Given the description of an element on the screen output the (x, y) to click on. 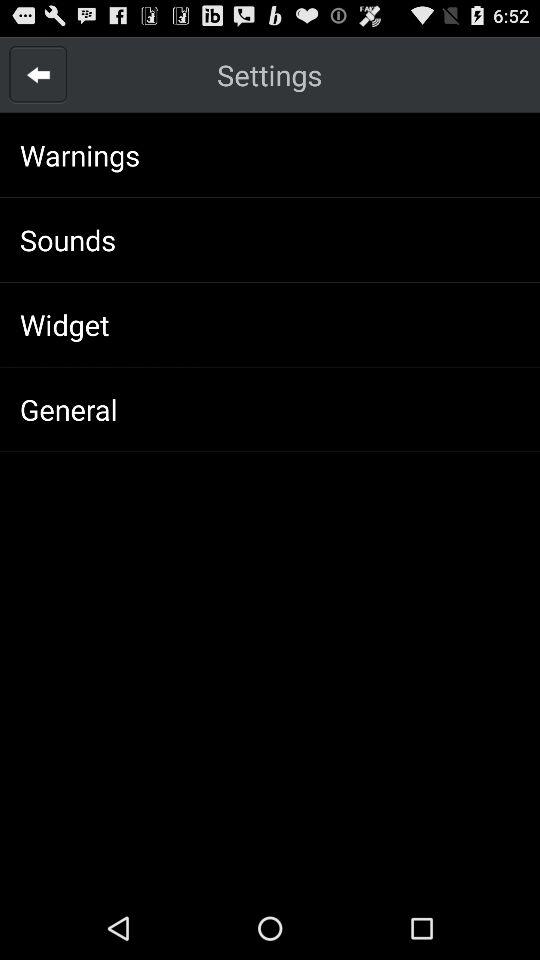
turn on icon below warnings (67, 239)
